Given the description of an element on the screen output the (x, y) to click on. 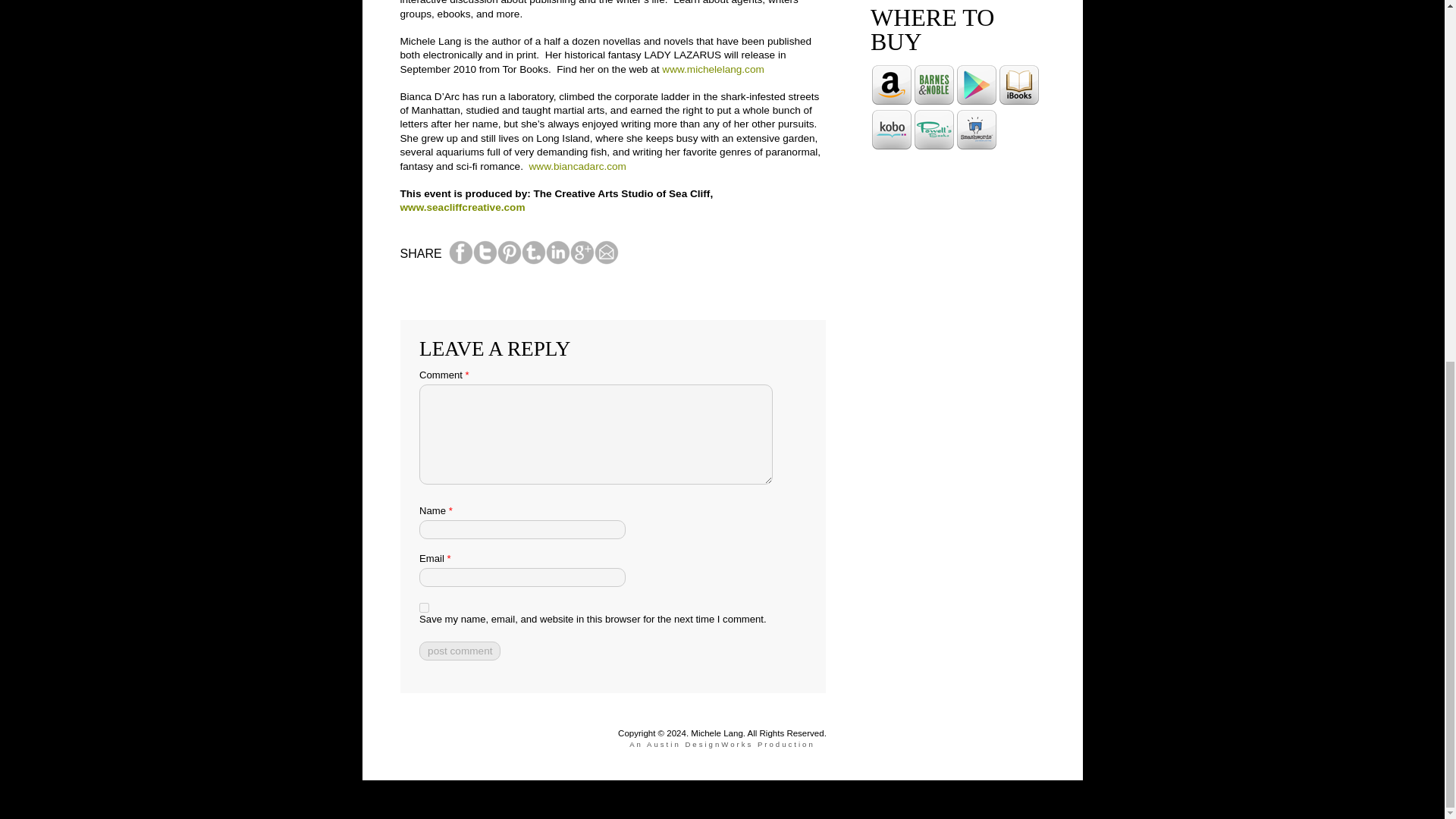
Post Comment (459, 650)
Click to share this post on Twitter (485, 260)
yes (424, 607)
